Given the description of an element on the screen output the (x, y) to click on. 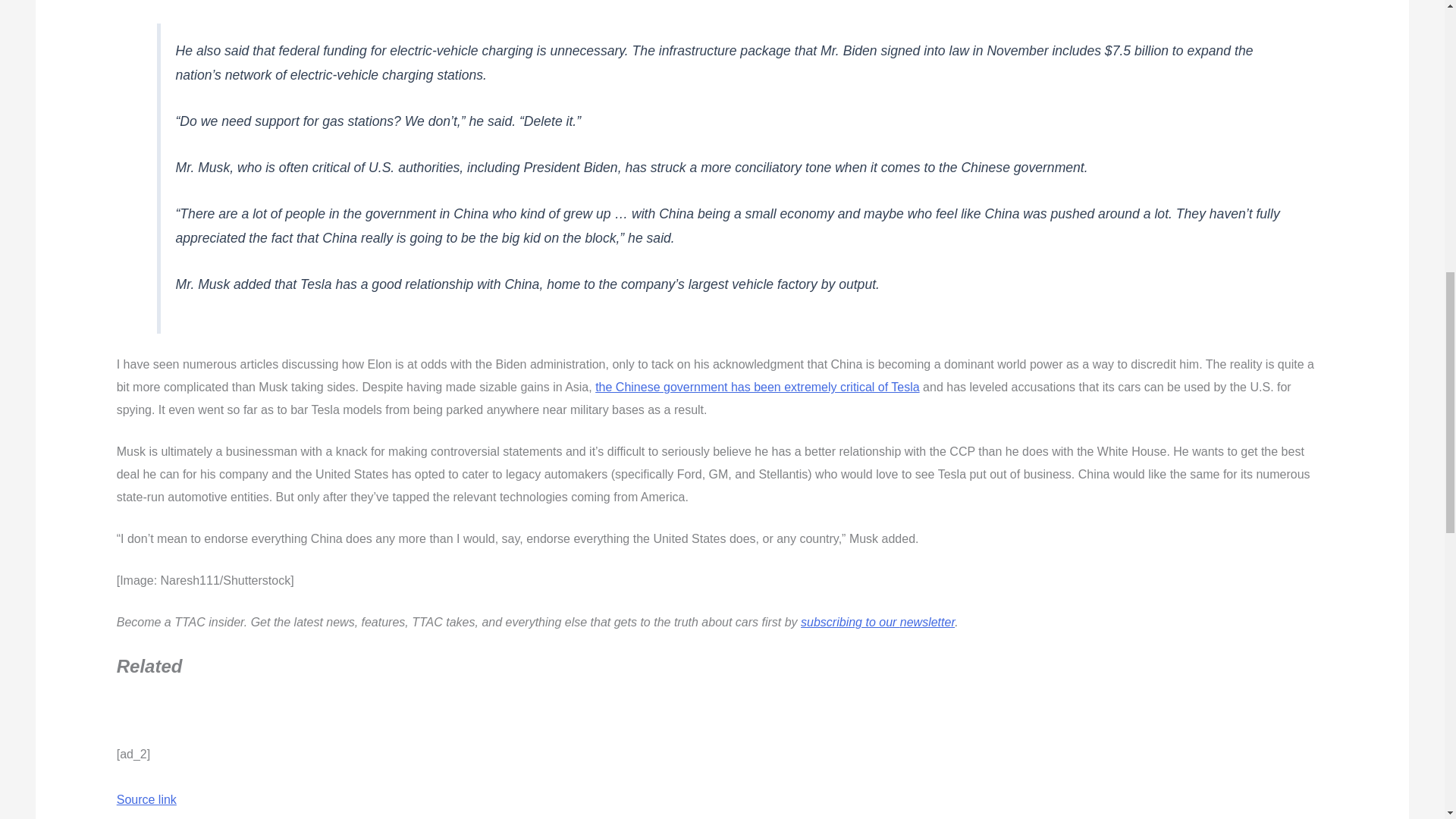
the Chinese government has been extremely critical of Tesla (756, 386)
Source link (146, 799)
subscribing to our newsletter (877, 621)
